Given the description of an element on the screen output the (x, y) to click on. 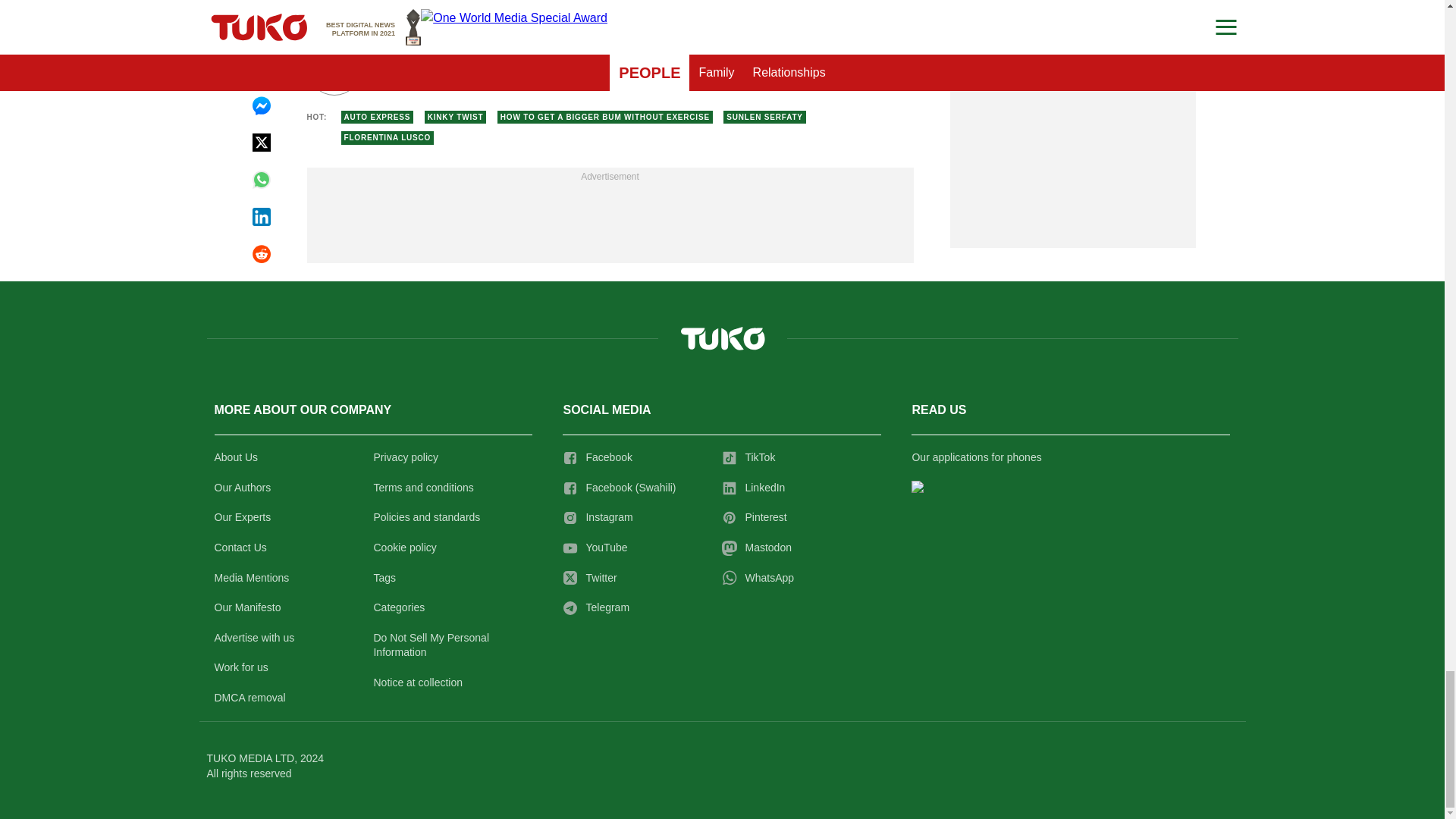
Author page (533, 67)
